Given the description of an element on the screen output the (x, y) to click on. 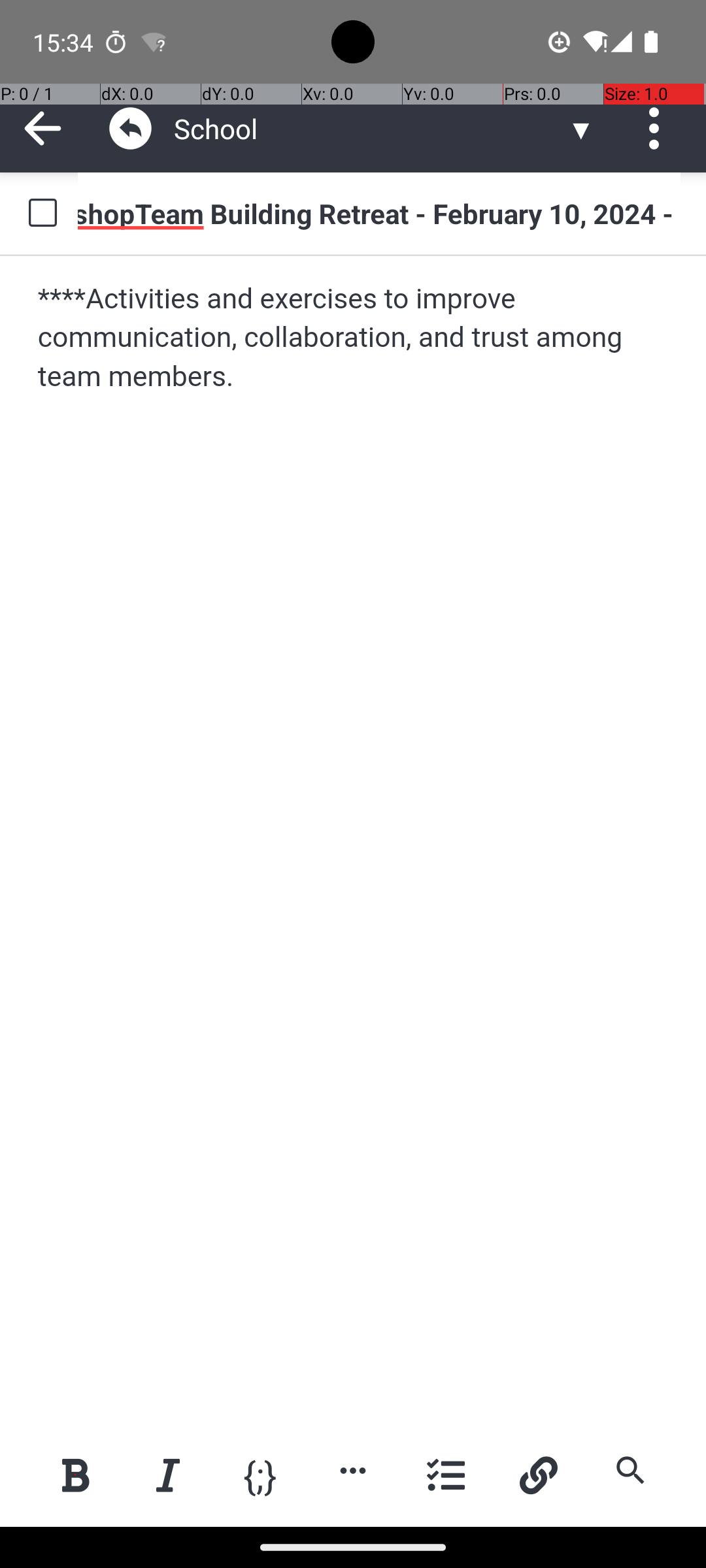
Team Building WorkshopTeam Building Retreat - February 10, 2024 - January 17, 2024 Element type: android.widget.EditText (378, 213)
****Activities and exercises to improve communication, collaboration, and trust among team members. Element type: android.widget.EditText (354, 338)
